Given the description of an element on the screen output the (x, y) to click on. 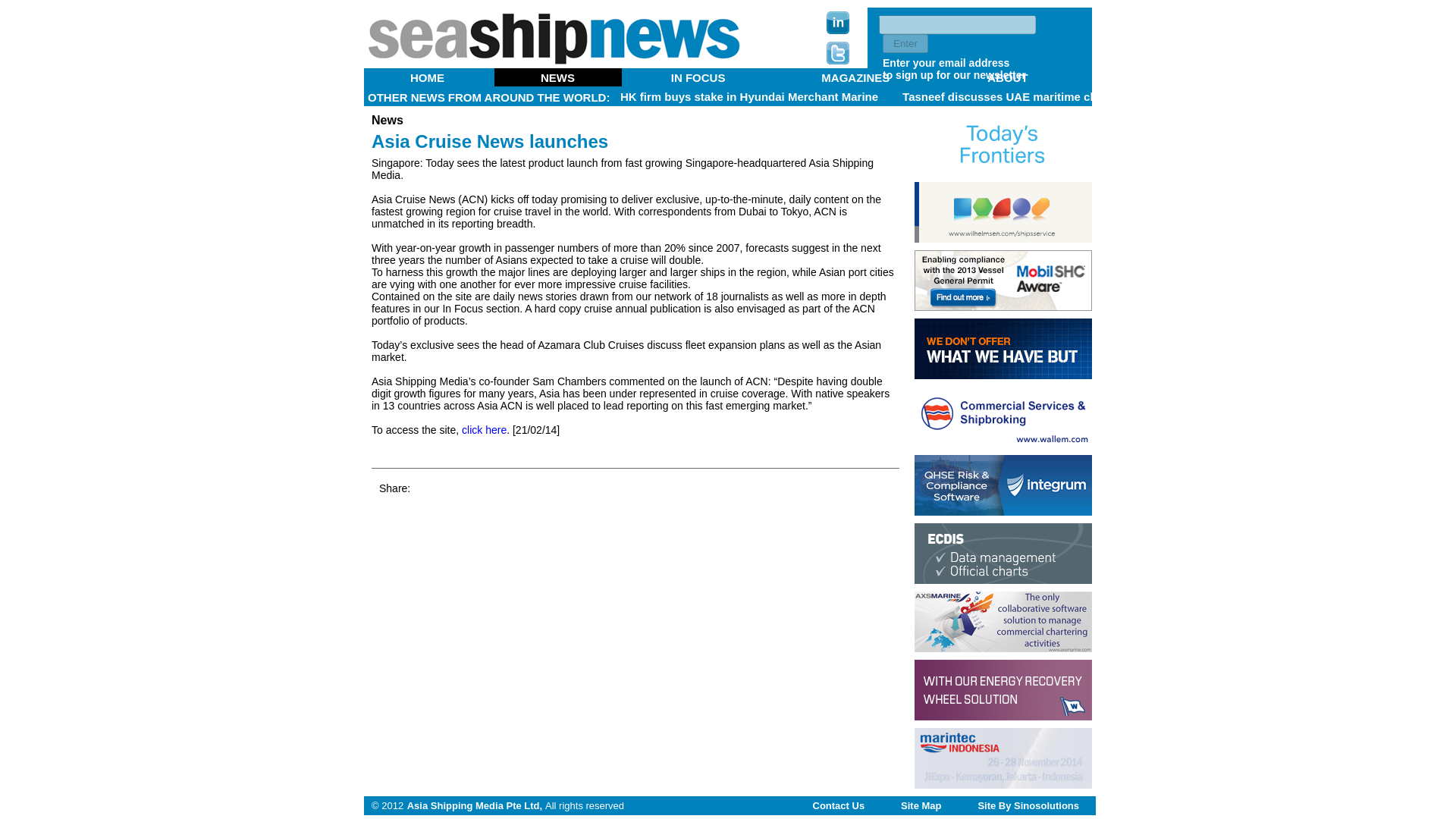
IN FOCUS (698, 76)
ABOUT US (695, 83)
MAGAZINES (855, 76)
Enter (905, 43)
Asia Shipping Media Pte Ltd, (474, 805)
click here (483, 429)
Enter (905, 43)
HOME (428, 76)
NEWS (558, 76)
